Given the description of an element on the screen output the (x, y) to click on. 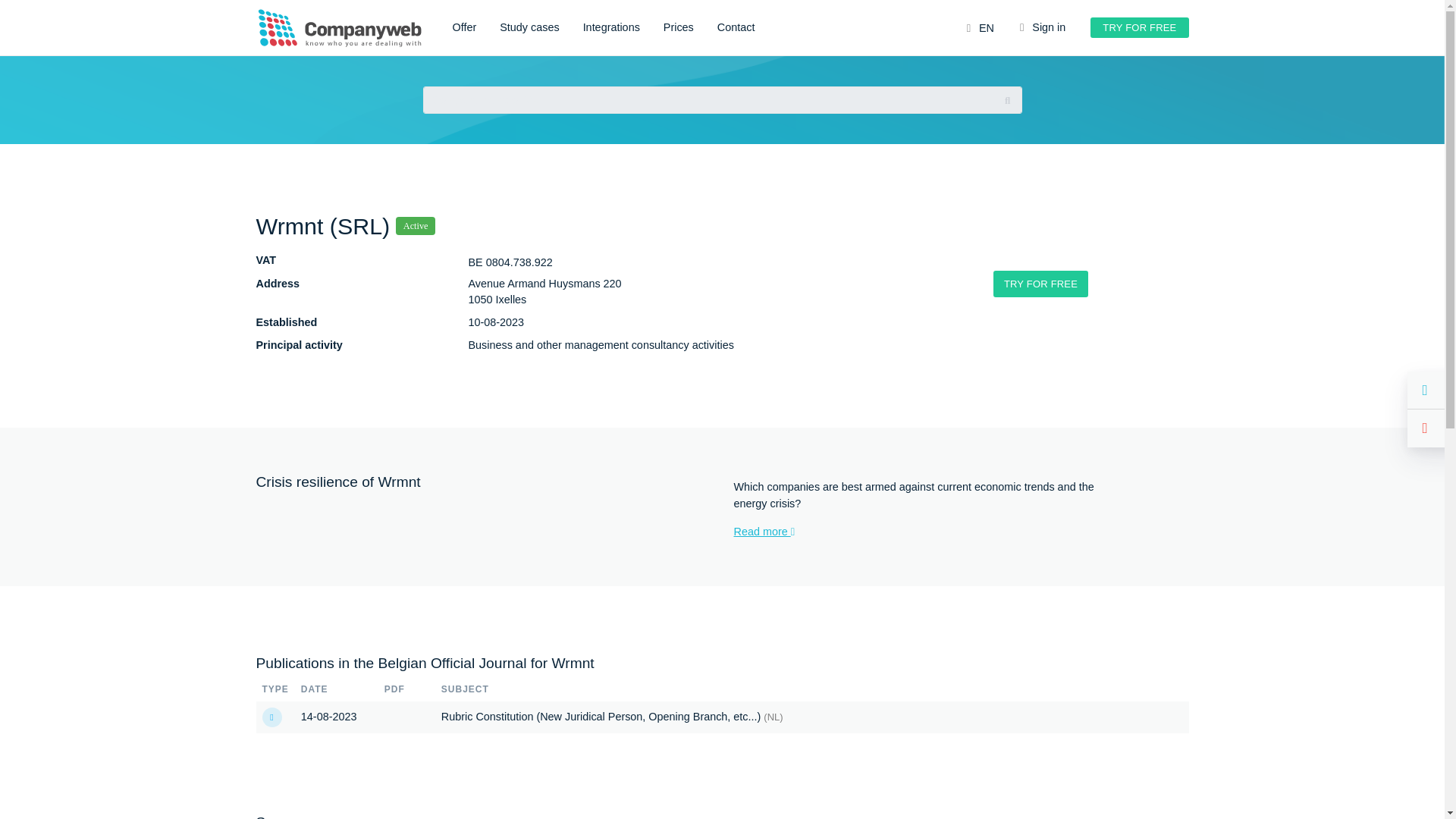
Sign in (1042, 27)
TRY FOR FREE (1039, 284)
Contact (736, 27)
Study cases (528, 27)
Prices (679, 27)
EN (980, 28)
Integrations (611, 27)
oprichting (272, 717)
TRY FOR FREE (1139, 27)
Read more (921, 532)
